Given the description of an element on the screen output the (x, y) to click on. 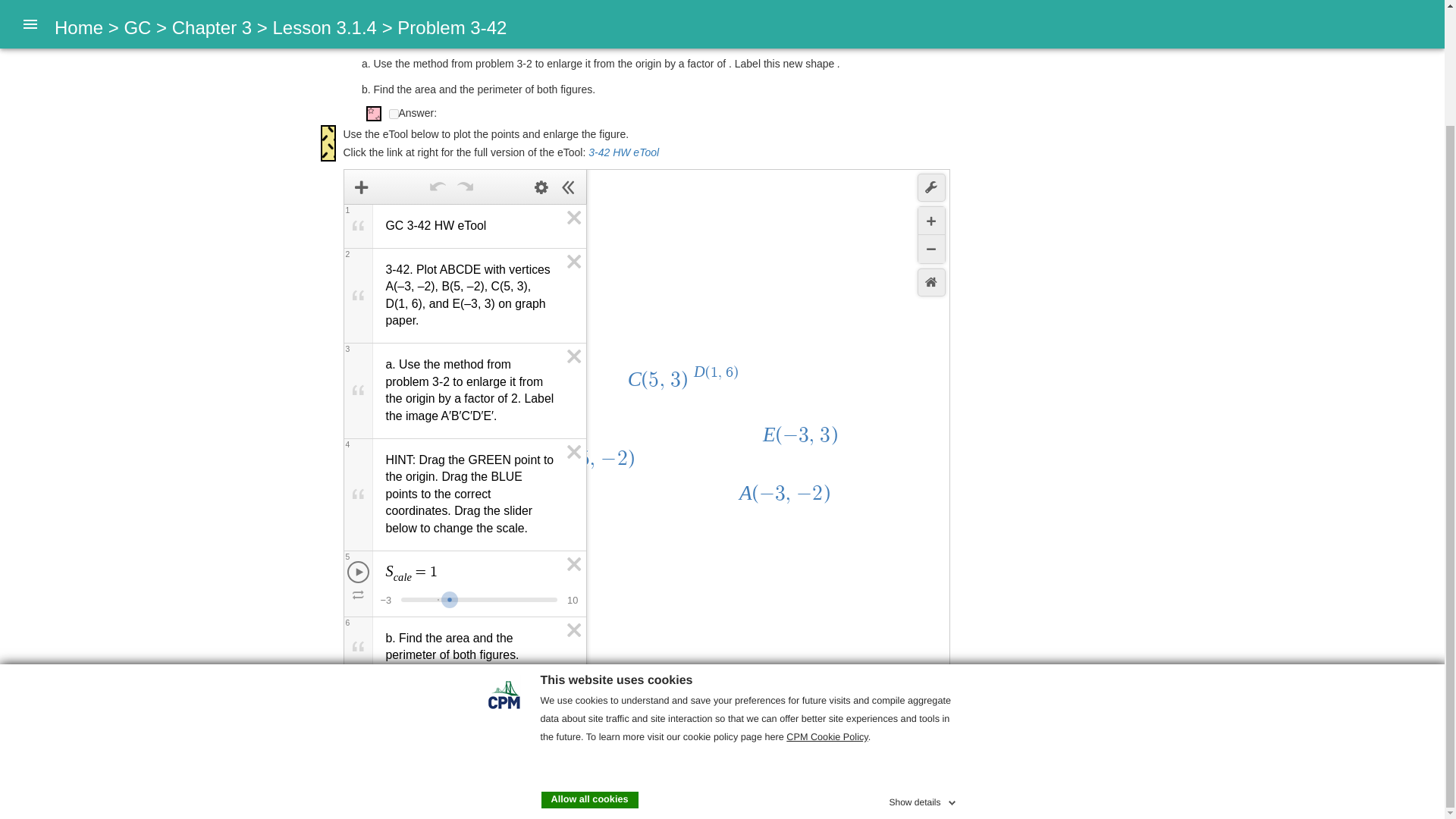
on (392, 113)
Allow all cookies (590, 661)
Show details (923, 661)
CPM Cookie Policy (826, 598)
